Given the description of an element on the screen output the (x, y) to click on. 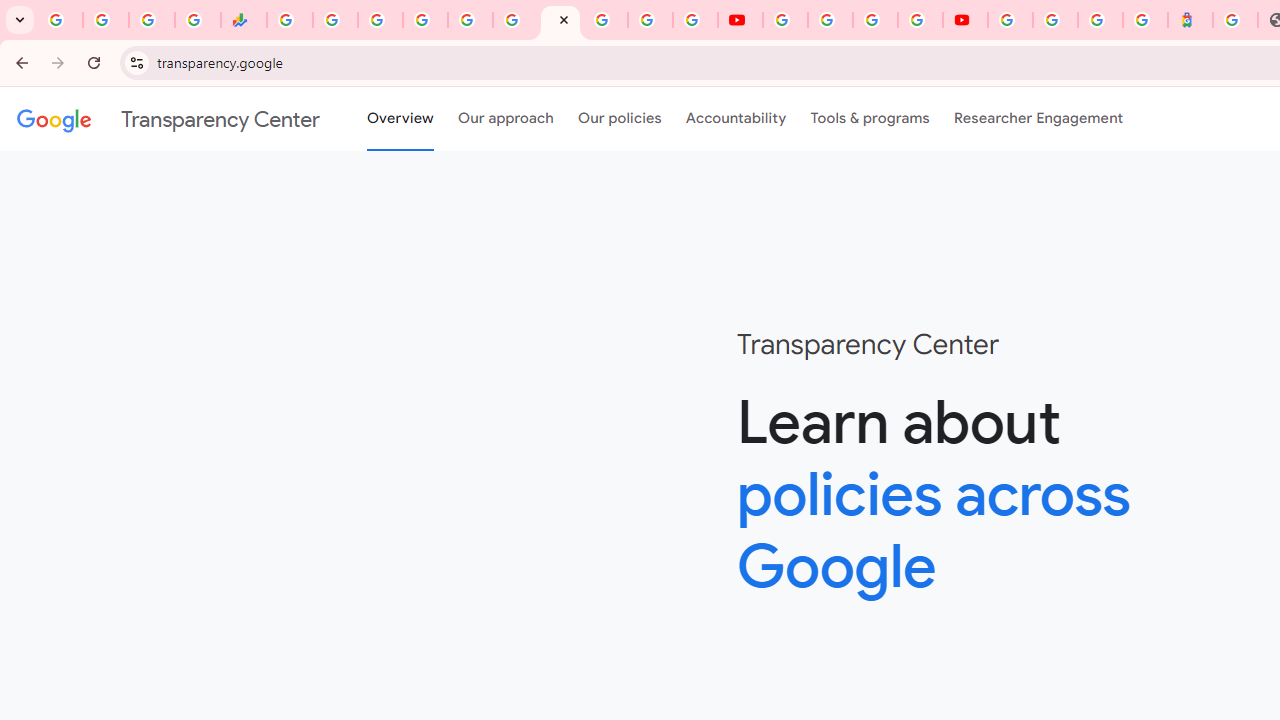
Tools & programs (869, 119)
Sign in - Google Accounts (1055, 20)
Sign in - Google Accounts (1010, 20)
Sign in - Google Accounts (425, 20)
Our approach (506, 119)
